Given the description of an element on the screen output the (x, y) to click on. 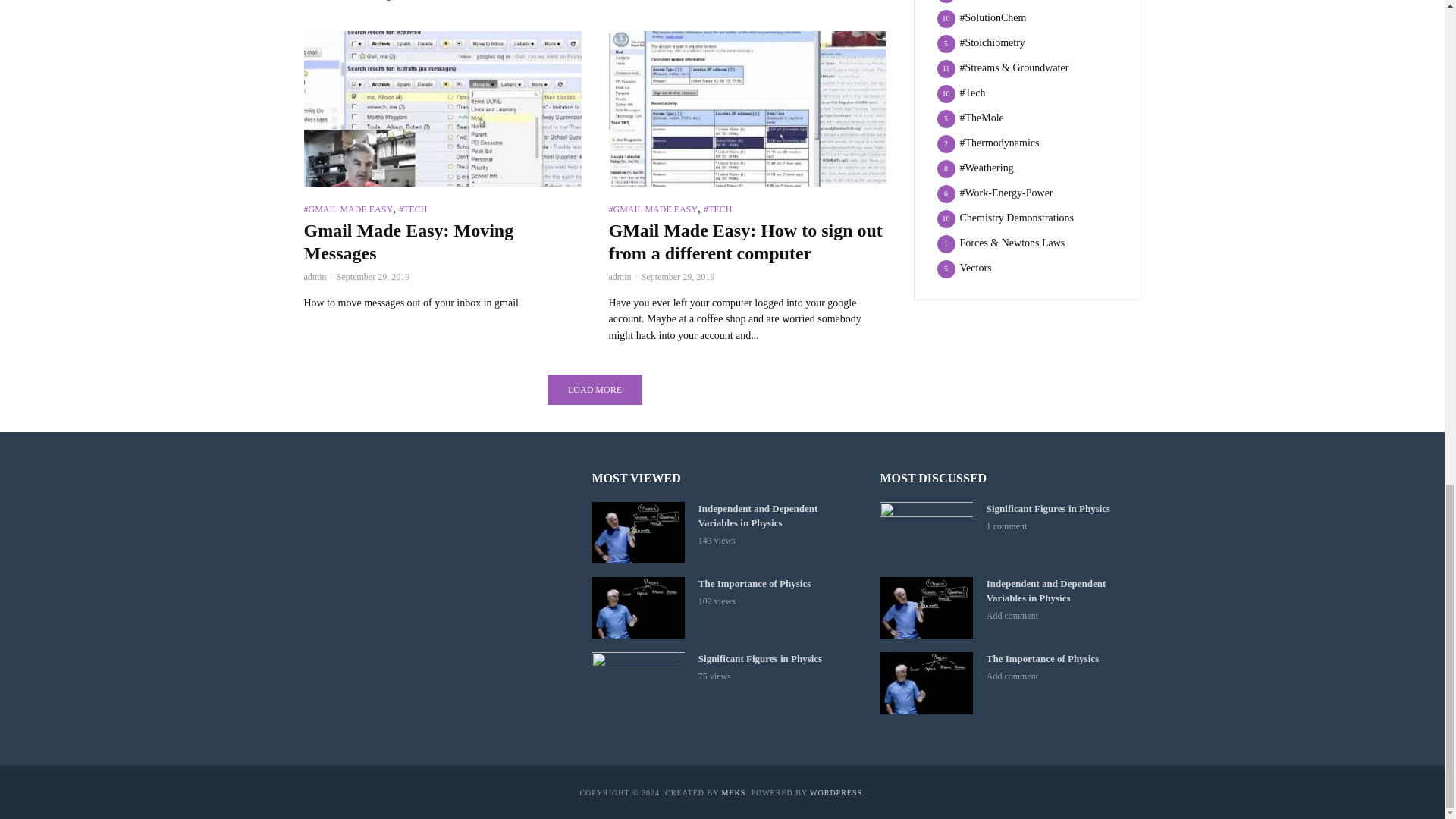
Independent and Dependent Variables in Physics (637, 532)
The Importance of Physics (637, 607)
Gmail Made Easy: Moving Messages (441, 108)
GMail Made Easy: How to sign out from a different computer (746, 108)
Significant Figures in Physics (925, 532)
The Importance of Physics (925, 682)
Significant Figures in Physics (637, 682)
Independent and Dependent Variables in Physics (925, 607)
